Given the description of an element on the screen output the (x, y) to click on. 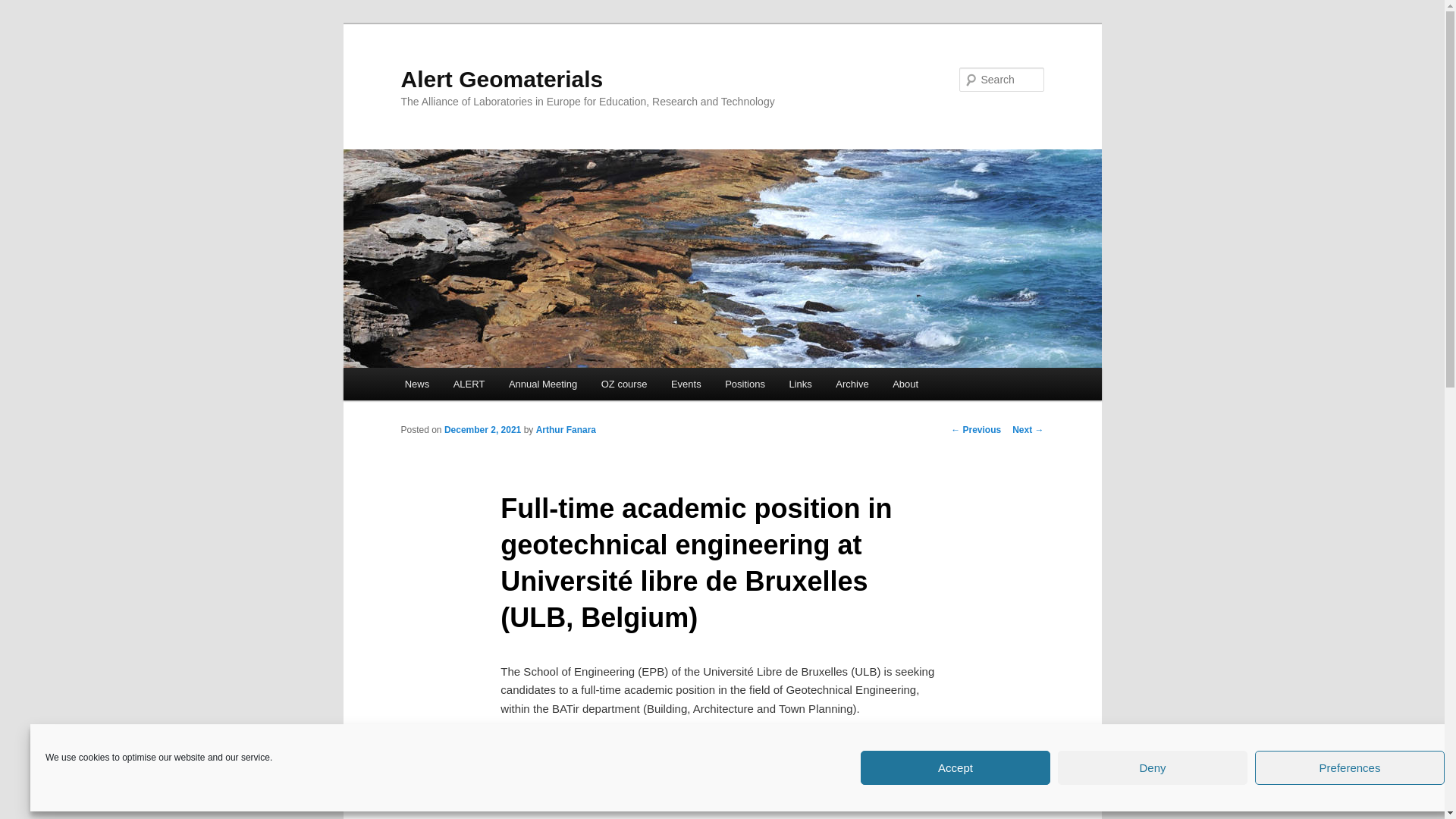
Alert Geomaterials (501, 78)
ALERT (468, 383)
News (417, 383)
Annual Meeting (542, 383)
Search (24, 8)
